Given the description of an element on the screen output the (x, y) to click on. 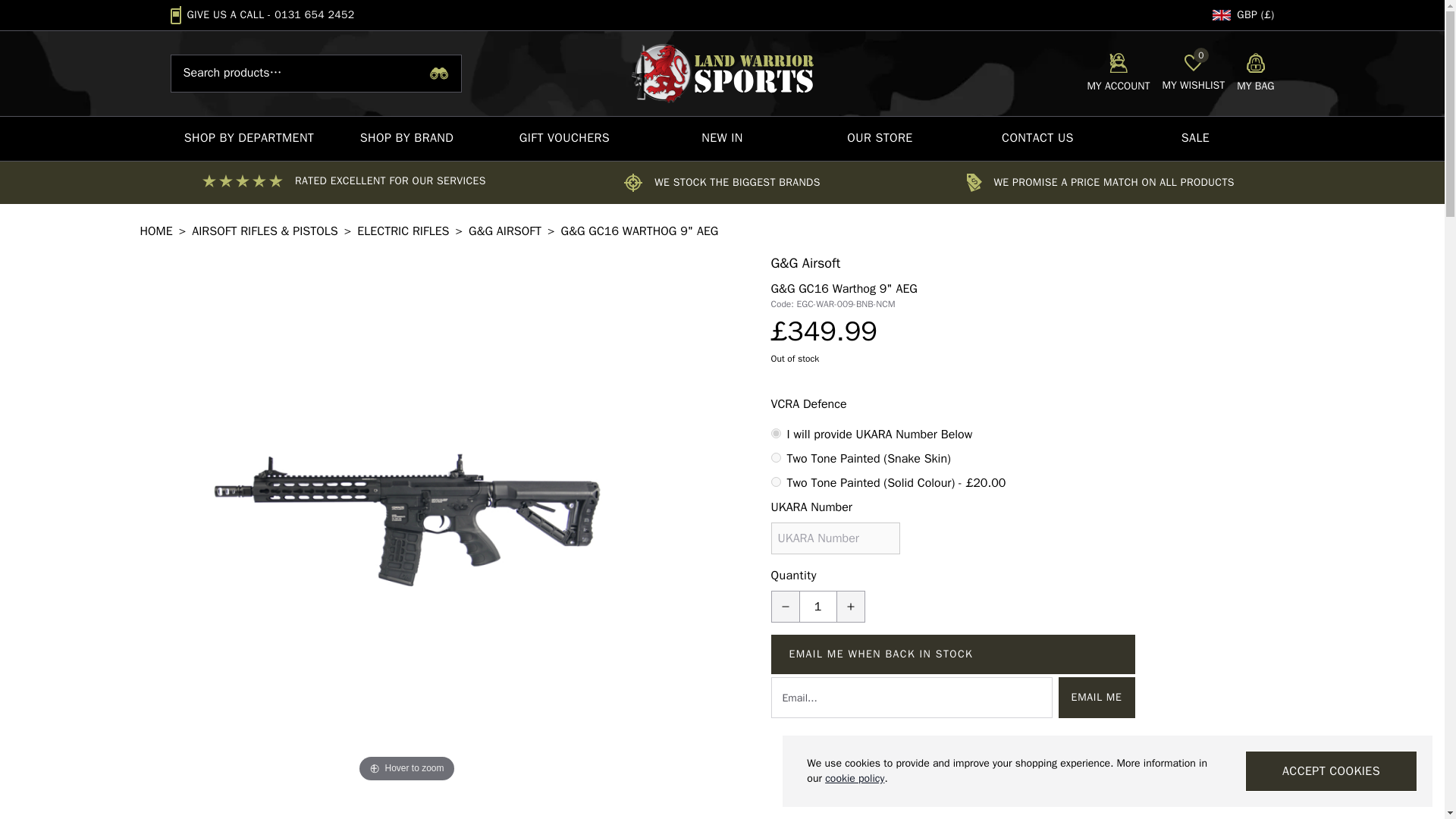
0131 654 2452 (1192, 73)
3 (314, 14)
2 (775, 481)
SHOP BY DEPARTMENT (775, 457)
1 (248, 138)
MY ACCOUNT (817, 606)
1 (1118, 73)
MY BAG (775, 433)
Skip to content (1255, 73)
